Given the description of an element on the screen output the (x, y) to click on. 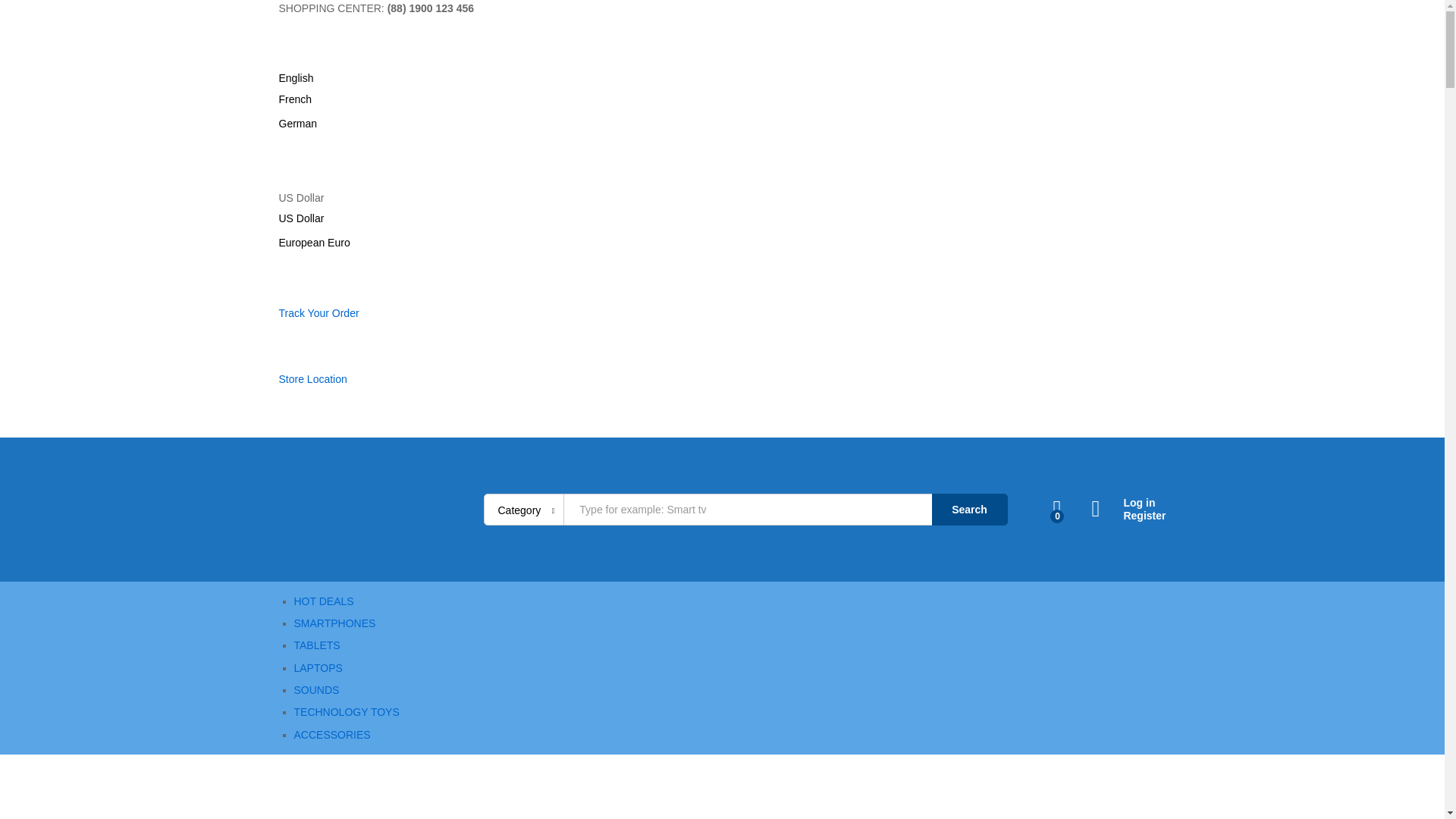
TECHNOLOGY TOYS (346, 711)
German (298, 123)
European Euro (314, 242)
TABLETS (317, 645)
HOT DEALS (323, 601)
English (296, 78)
SMARTPHONES (334, 623)
SOUNDS (316, 689)
ACCESSORIES (332, 734)
Search (969, 509)
French (296, 99)
Track Your Order (319, 313)
US Dollar (301, 218)
Log in (1128, 502)
LAPTOPS (318, 667)
